Given the description of an element on the screen output the (x, y) to click on. 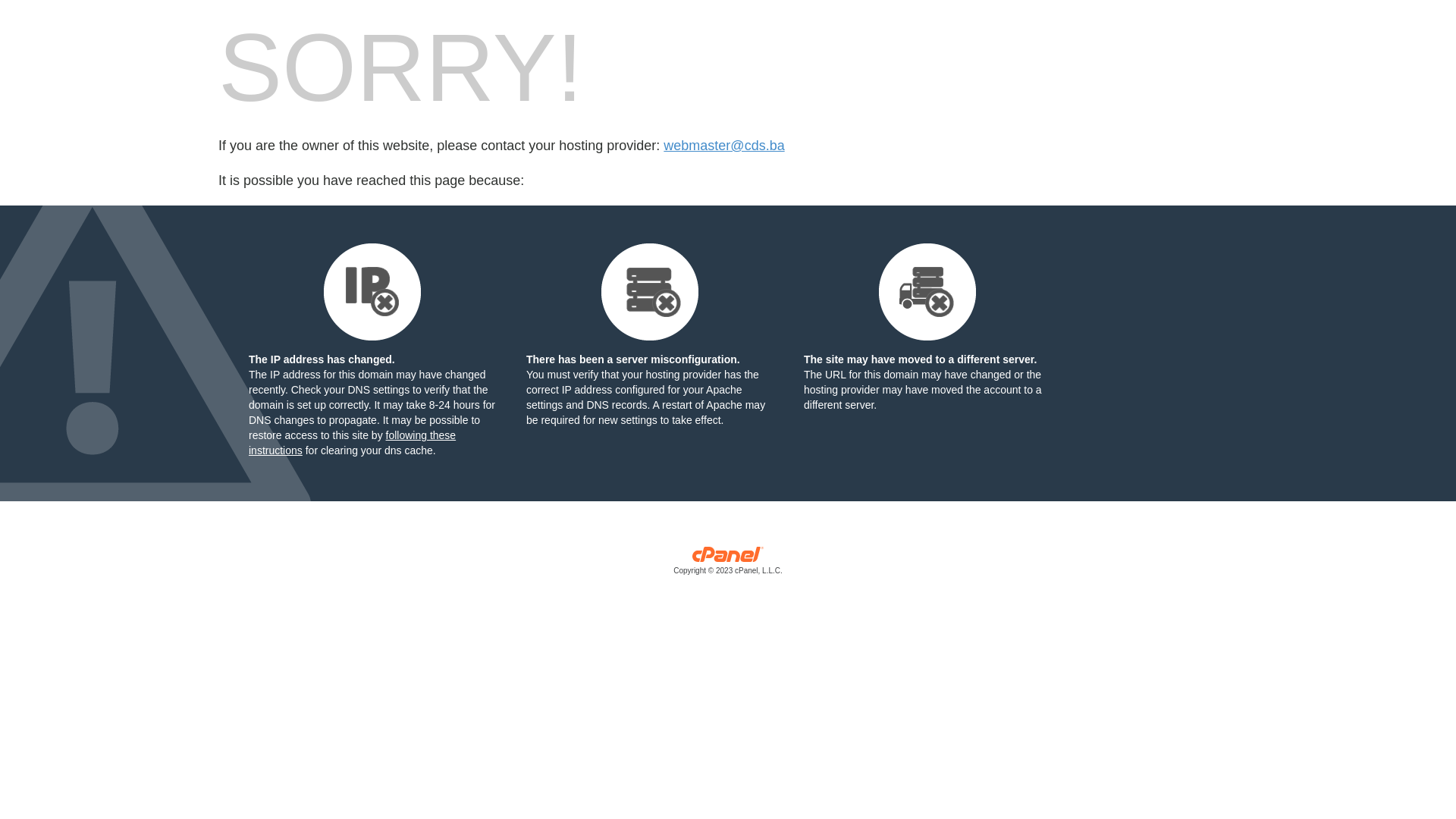
following these instructions Element type: text (351, 442)
webmaster@cds.ba Element type: text (723, 145)
